Given the description of an element on the screen output the (x, y) to click on. 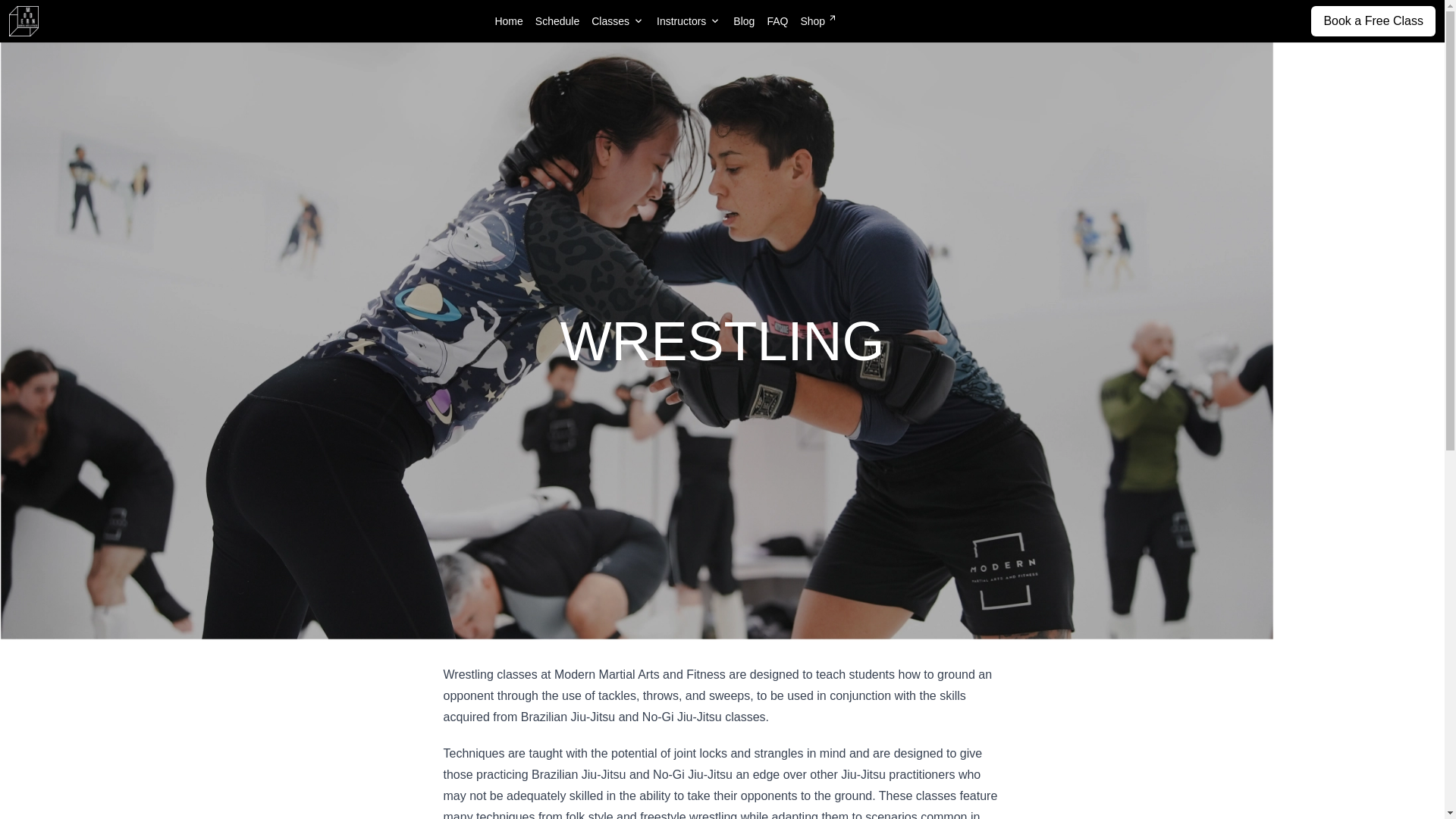
Classes (617, 21)
FAQ (776, 21)
Shop (818, 21)
Schedule (557, 21)
Instructors (688, 21)
Blog (743, 21)
FAQ (776, 21)
Schedule (557, 21)
Instructors (688, 21)
Blog (743, 21)
